Given the description of an element on the screen output the (x, y) to click on. 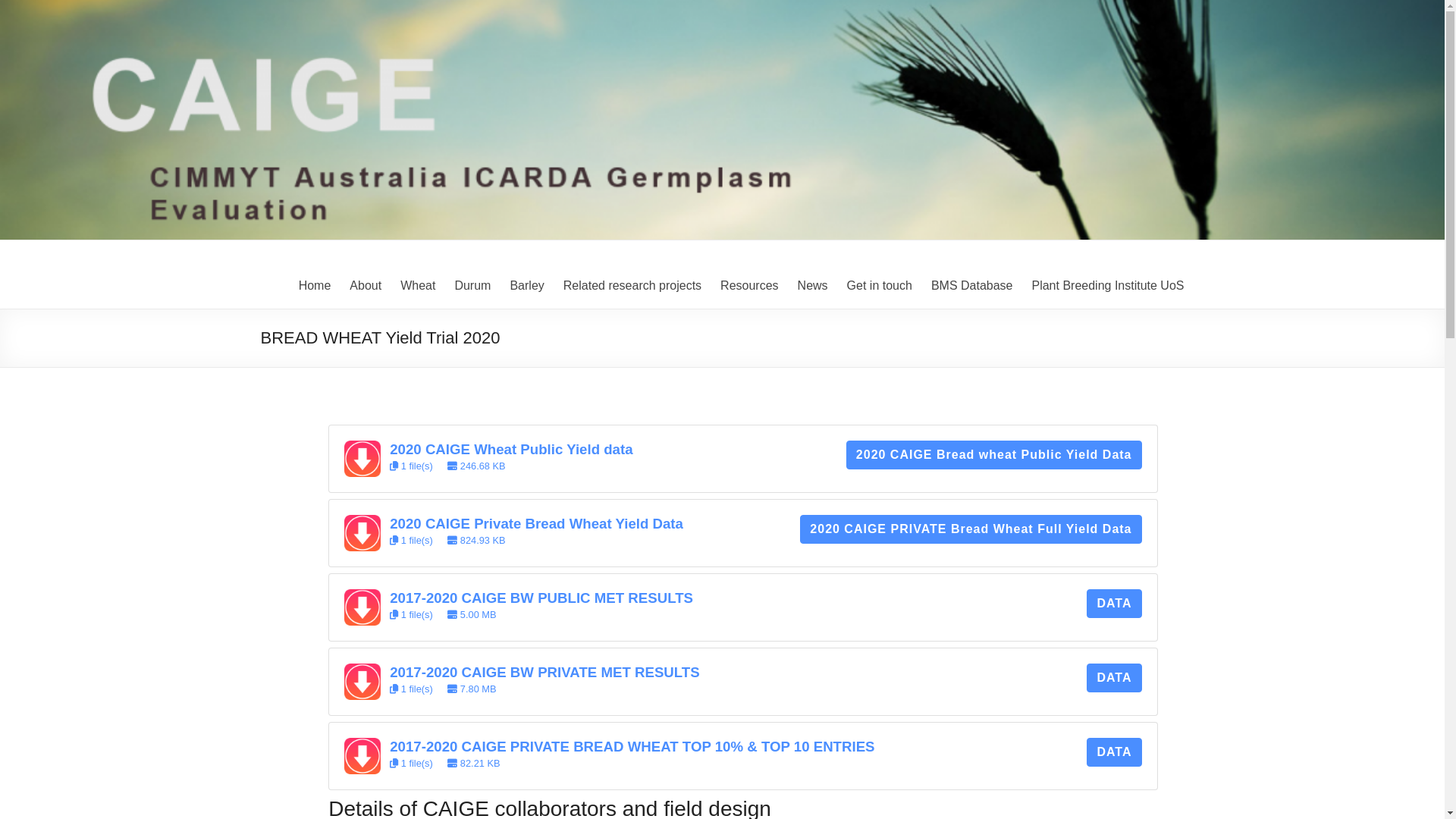
Plant Breeding Institute UoS Element type: text (1107, 285)
Resources Element type: text (749, 285)
2017-2020 CAIGE PRIVATE BREAD WHEAT TOP 10% & TOP 10 ENTRIES Element type: text (631, 746)
DATA Element type: text (1113, 677)
DATA Element type: text (1113, 751)
Related research projects Element type: text (632, 285)
2017-2020 CAIGE BW PRIVATE MET RESULTS Element type: text (544, 672)
2017-2020 CAIGE BW PUBLIC MET RESULTS Element type: text (541, 597)
News Element type: text (812, 285)
Durum Element type: text (472, 285)
CAIGE Element type: text (302, 272)
2020 CAIGE PRIVATE Bread Wheat Full Yield Data Element type: text (970, 528)
Wheat Element type: text (417, 285)
DATA Element type: text (1113, 603)
2020 CAIGE Wheat Public Yield data Element type: text (510, 449)
Home Element type: text (314, 285)
2020 CAIGE Private Bread Wheat Yield Data Element type: text (536, 523)
Barley Element type: text (526, 285)
2020 CAIGE Bread wheat Public Yield Data Element type: text (994, 454)
About Element type: text (365, 285)
BMS Database Element type: text (972, 285)
Get in touch Element type: text (879, 285)
